Given the description of an element on the screen output the (x, y) to click on. 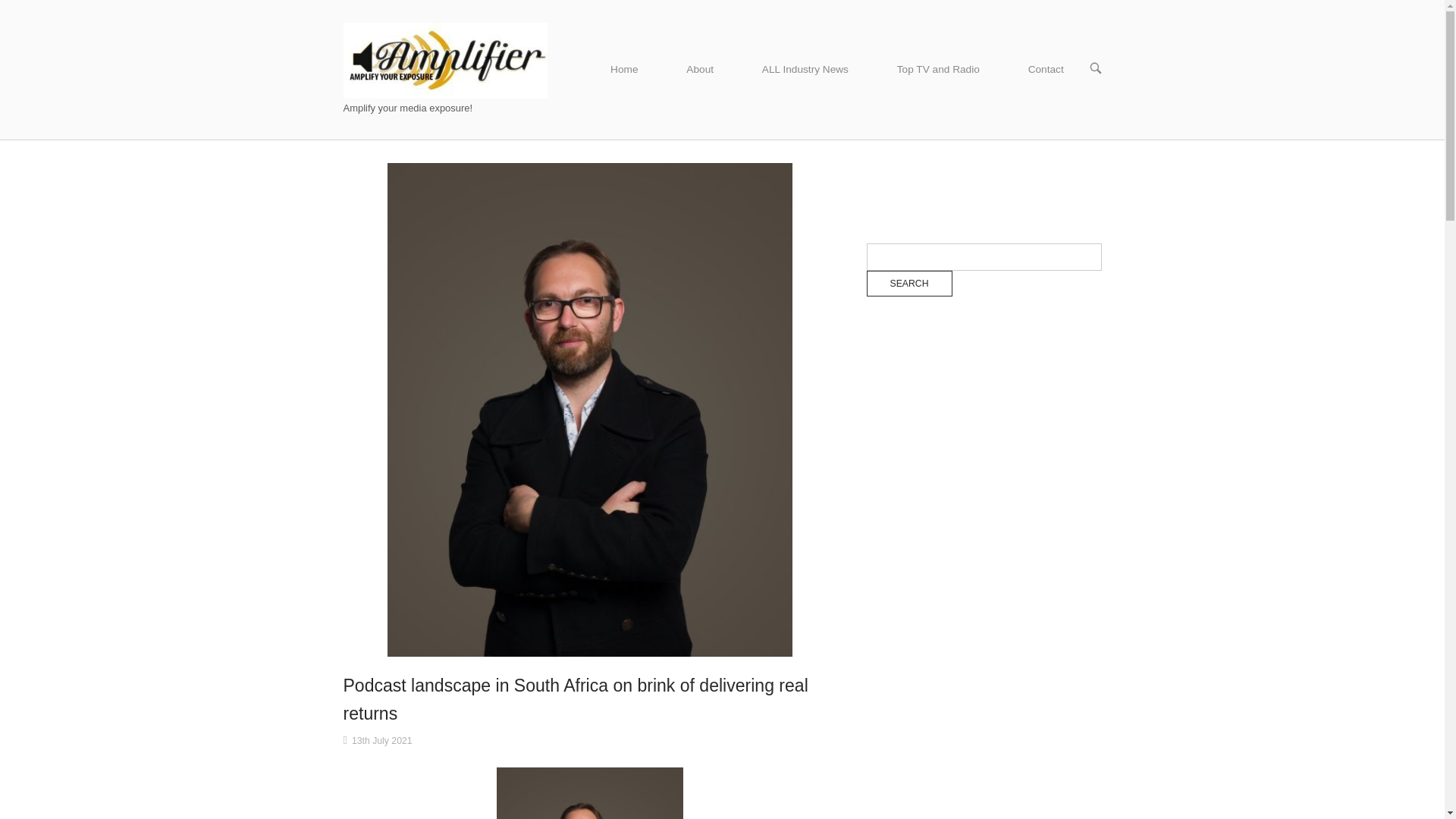
Contact (1046, 69)
Top TV and Radio (939, 69)
13th July 2021 (382, 740)
ALL Industry News (804, 69)
About (699, 69)
Home (624, 69)
Search (909, 283)
